Given the description of an element on the screen output the (x, y) to click on. 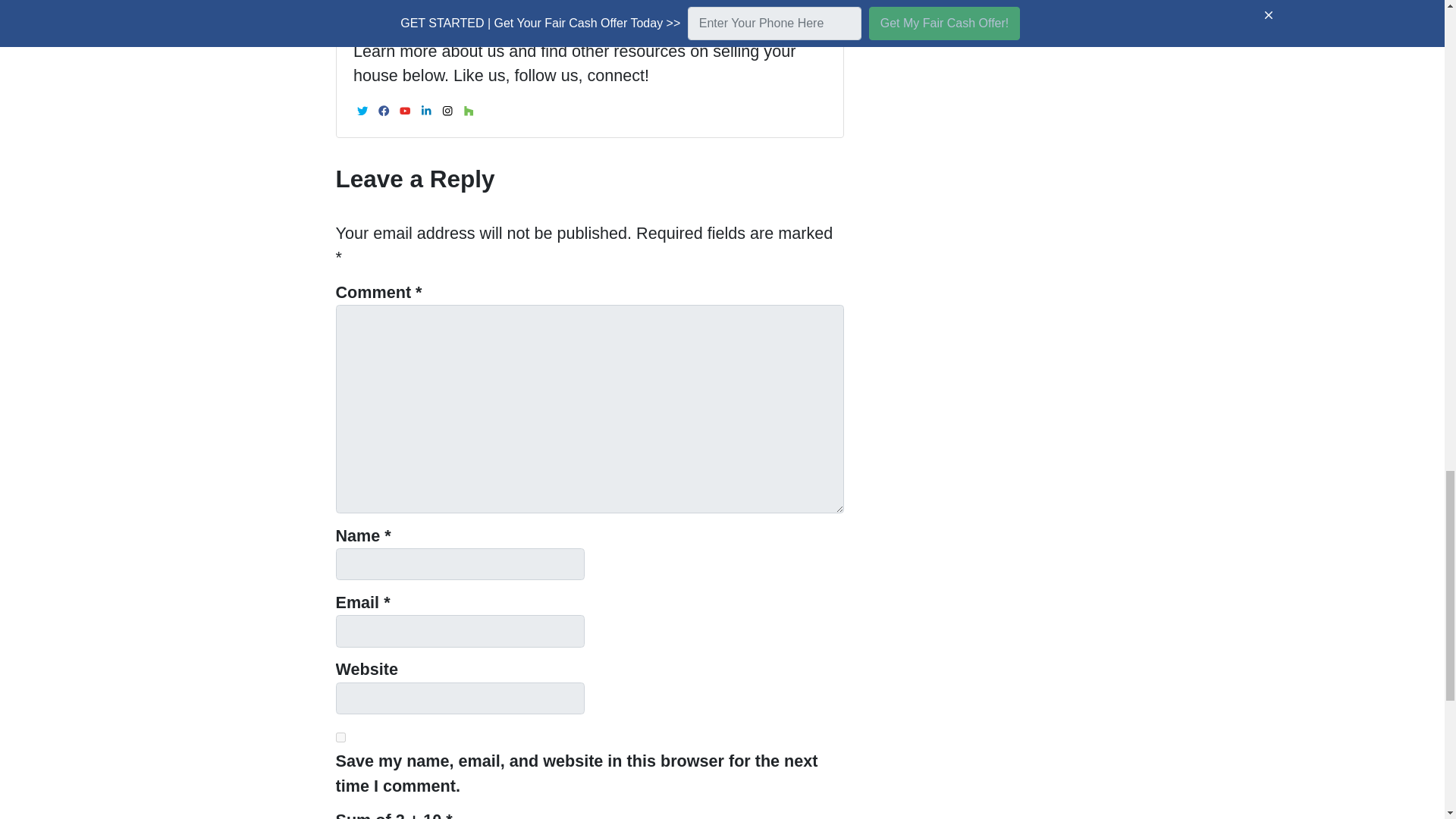
YouTube (404, 110)
LinkedIn (425, 110)
yes (339, 737)
Twitter (362, 110)
Houzz (468, 110)
Instagram (447, 110)
Facebook (383, 110)
